Given the description of an element on the screen output the (x, y) to click on. 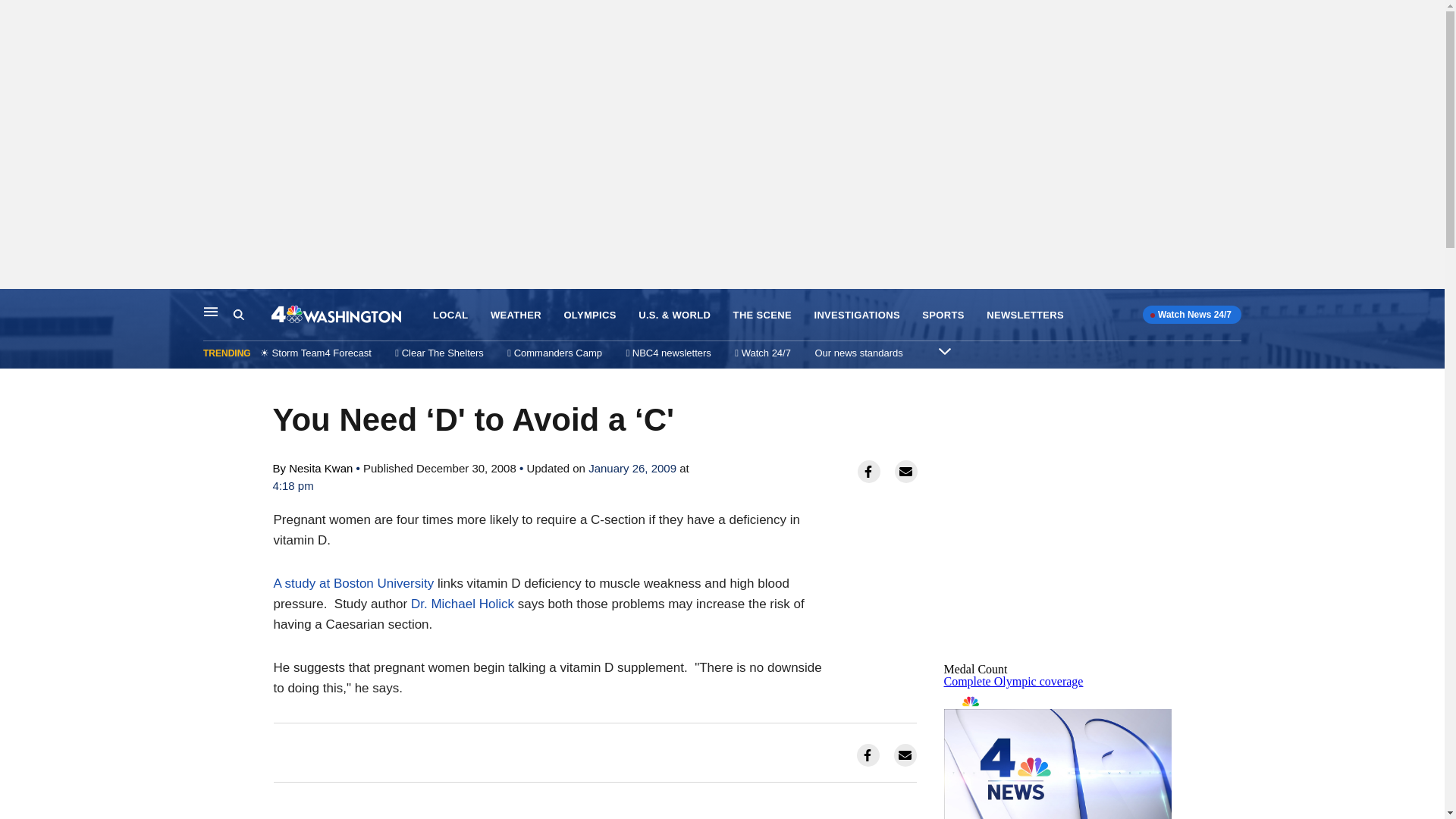
Expand (944, 350)
LOCAL (449, 315)
Complete Olympic coverage (1013, 680)
THE SCENE (762, 315)
OLYMPICS (589, 315)
Search (252, 314)
Search (238, 314)
A study at Boston University (353, 583)
SPORTS (942, 315)
WEATHER (515, 315)
